Given the description of an element on the screen output the (x, y) to click on. 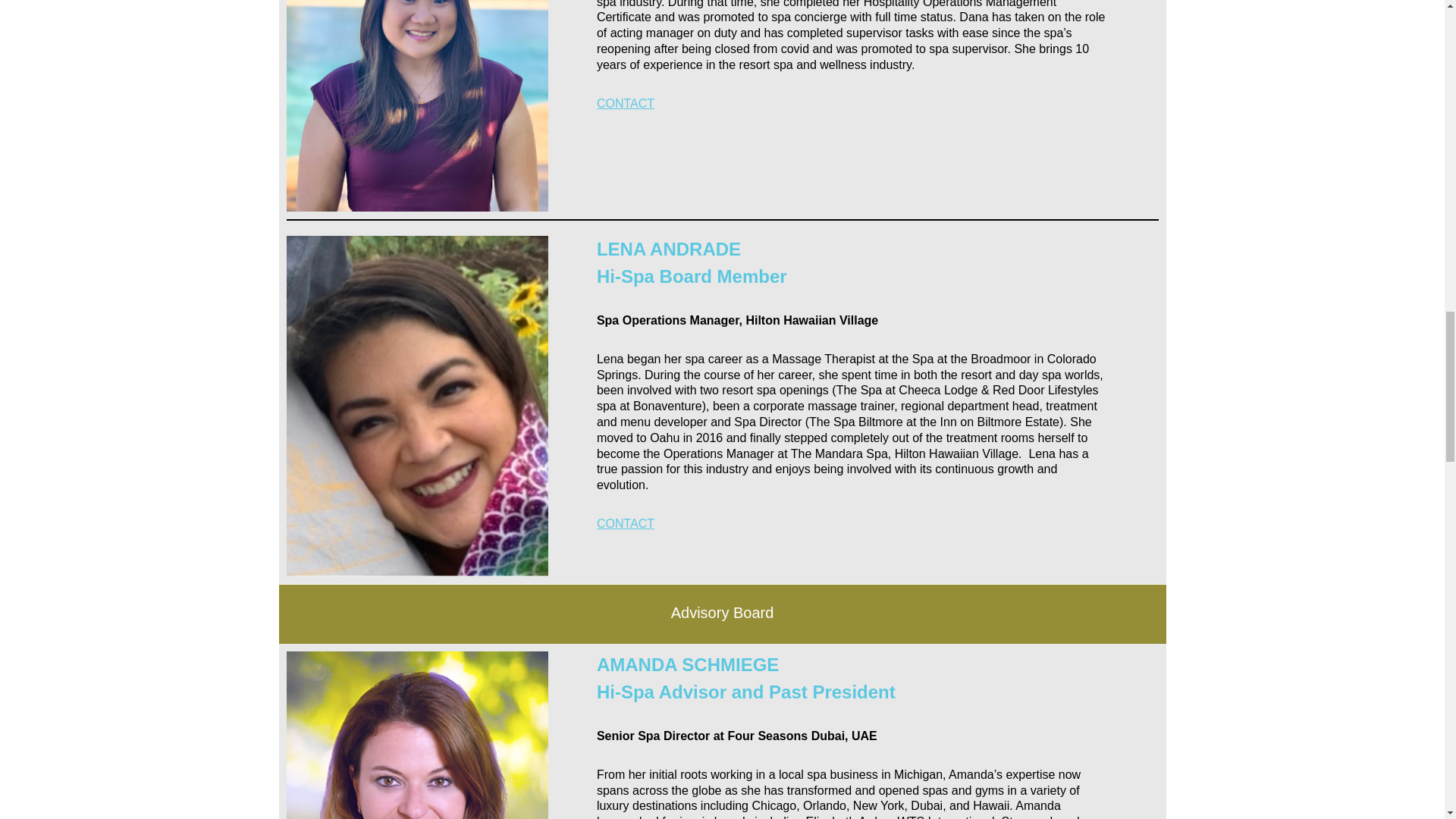
CONTACT (624, 522)
CONTACT (624, 103)
